Given the description of an element on the screen output the (x, y) to click on. 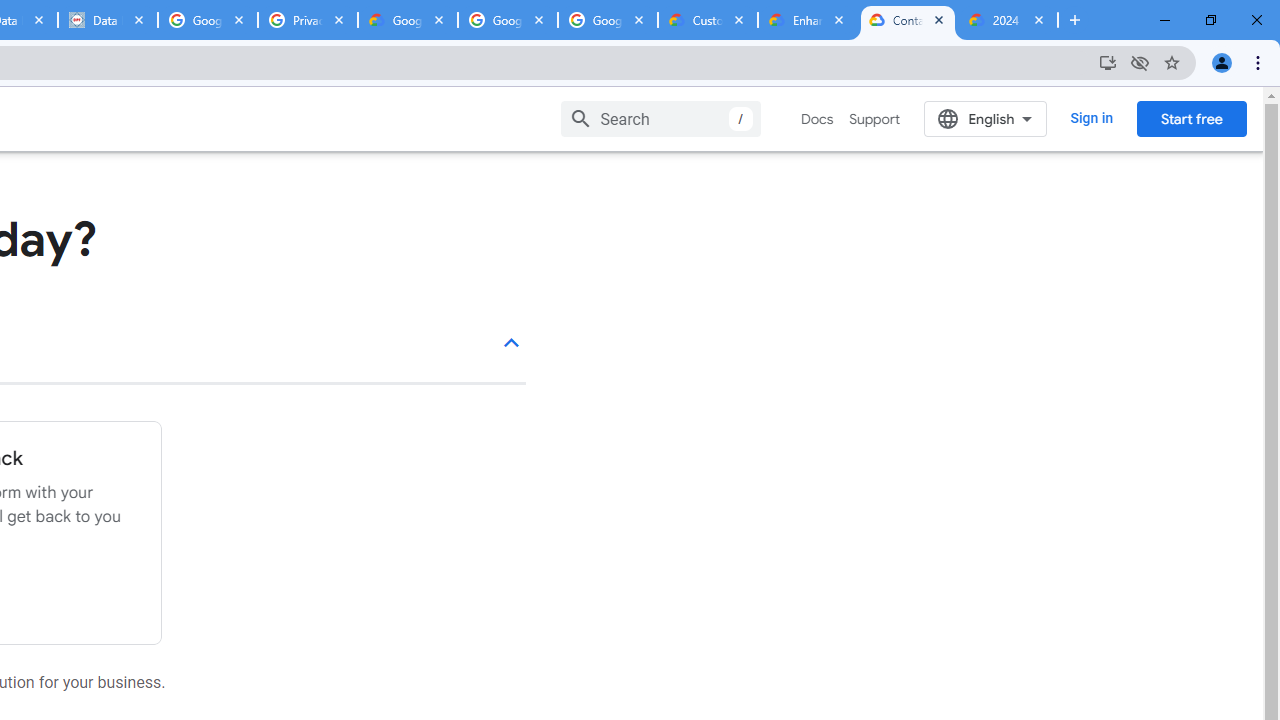
Data Privacy Framework (107, 20)
Close (1039, 19)
Customer Care | Google Cloud (707, 20)
Chrome (1260, 62)
Enhanced Support | Google Cloud (807, 20)
Search (660, 118)
Support (874, 119)
Sign in (1092, 118)
Restore (1210, 20)
English (985, 118)
Install Google Cloud (1107, 62)
Minimize (1165, 20)
